Given the description of an element on the screen output the (x, y) to click on. 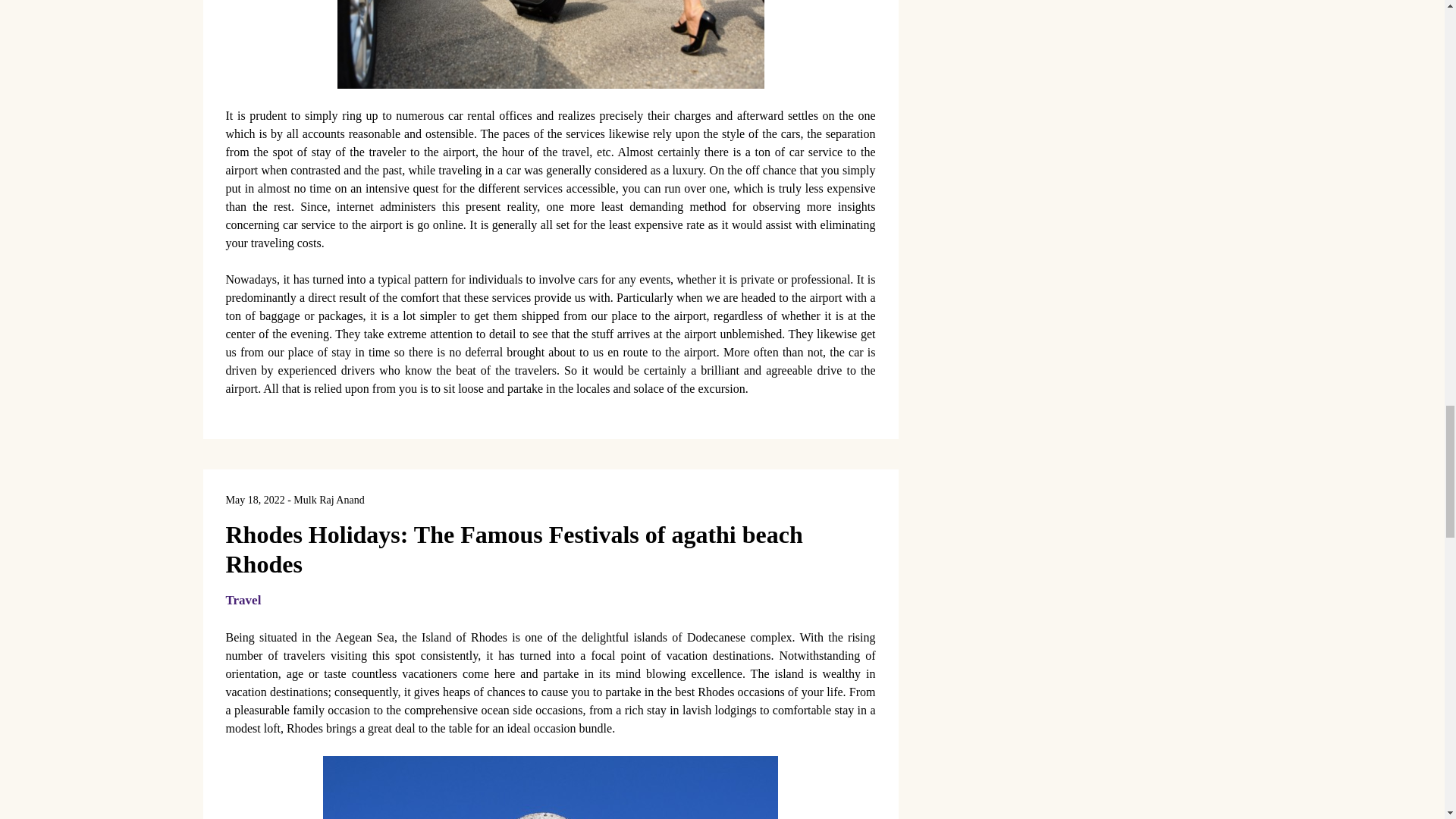
Rhodes Holidays: The Famous Festivals of agathi beach Rhodes (514, 548)
Travel (243, 599)
May 18, 2022 (255, 500)
Mulk Raj Anand (329, 500)
